Given the description of an element on the screen output the (x, y) to click on. 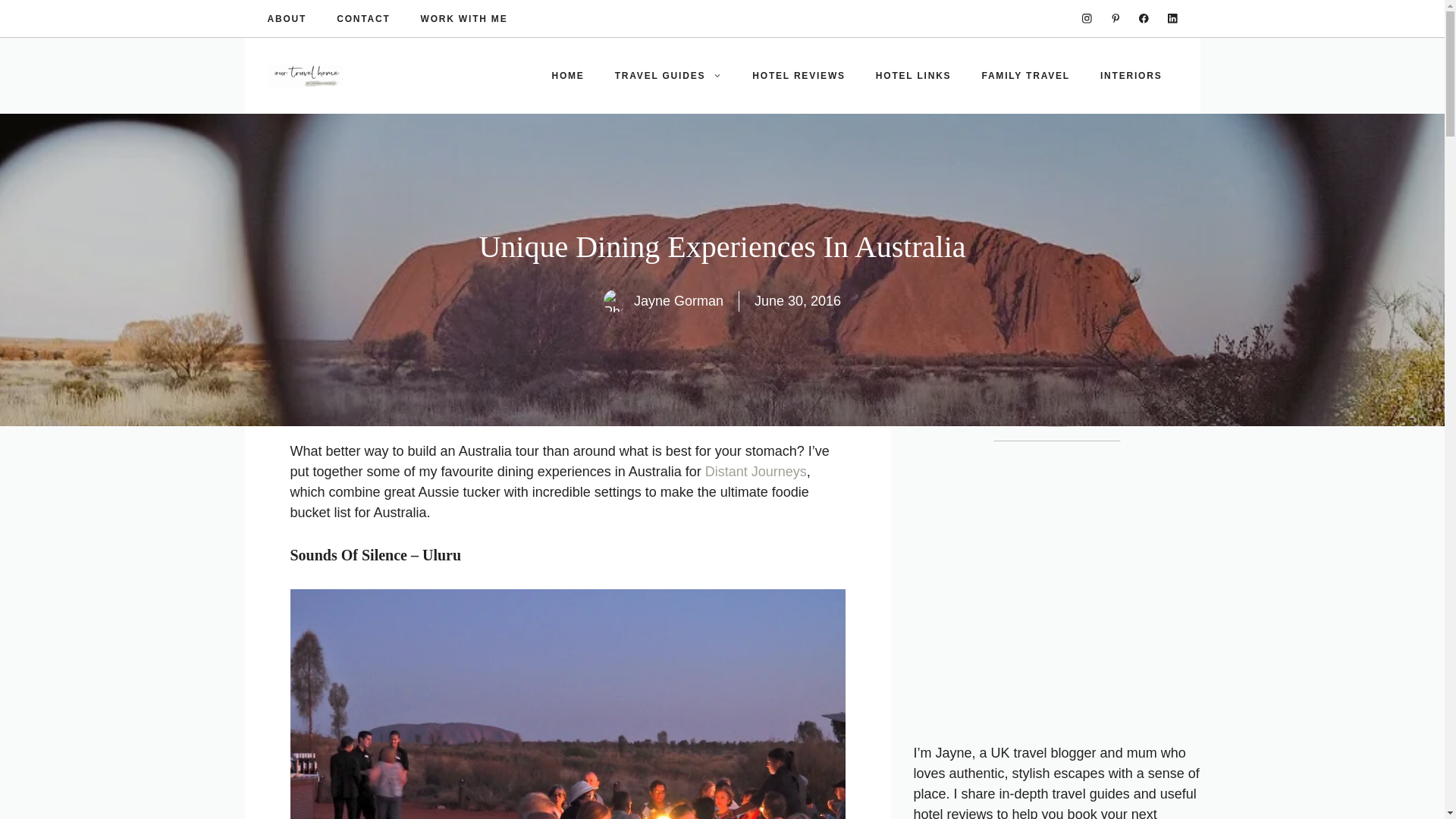
WORK WITH ME (464, 18)
CONTACT (363, 18)
HOTEL REVIEWS (798, 75)
FAMILY TRAVEL (1025, 75)
HOME (566, 75)
TRAVEL GUIDES (668, 75)
Distant Journeys (755, 471)
ABOUT (285, 18)
INTERIORS (1130, 75)
HOTEL LINKS (913, 75)
